Given the description of an element on the screen output the (x, y) to click on. 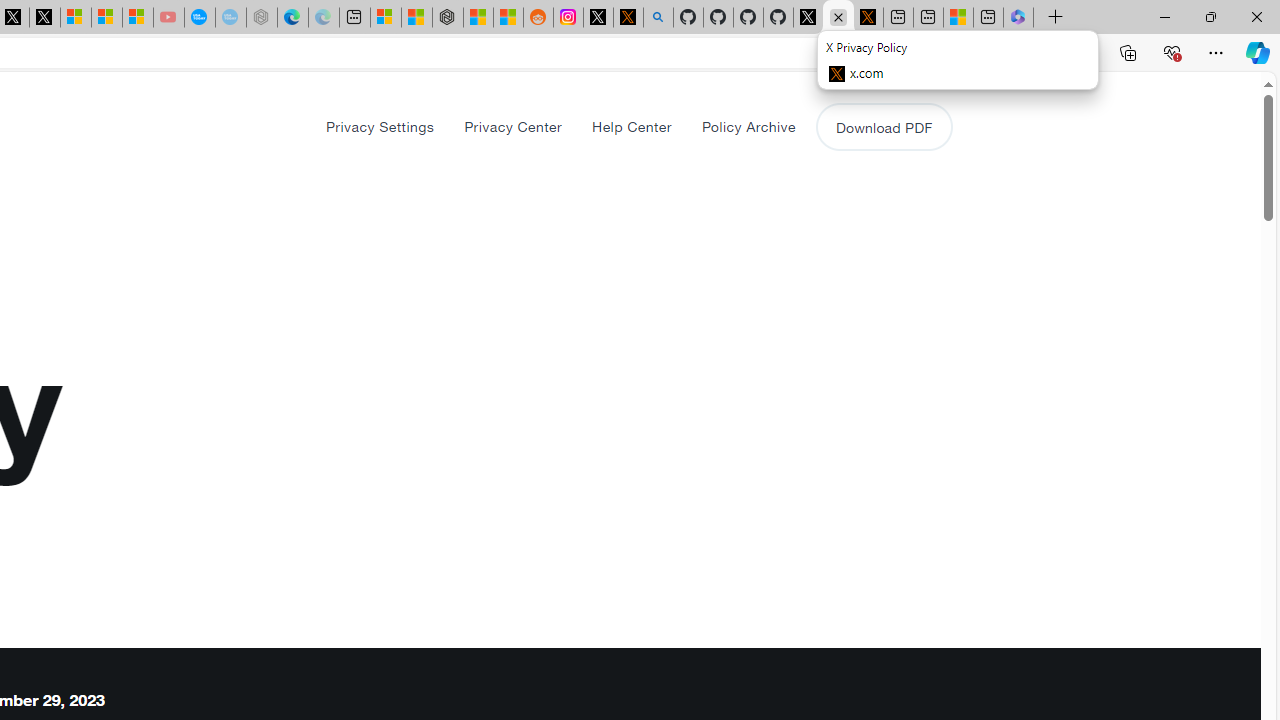
Privacy Center (513, 126)
Nordace - Nordace has arrived Hong Kong - Sleeping (261, 17)
Policy Archive (748, 126)
Gloom - YouTube - Sleeping (168, 17)
Shopping in Microsoft Edge (910, 53)
Nordace - Duffels (447, 17)
Policy Archive (747, 126)
The most popular Google 'how to' searches - Sleeping (230, 17)
help.x.com | 524: A timeout occurred (628, 17)
